Given the description of an element on the screen output the (x, y) to click on. 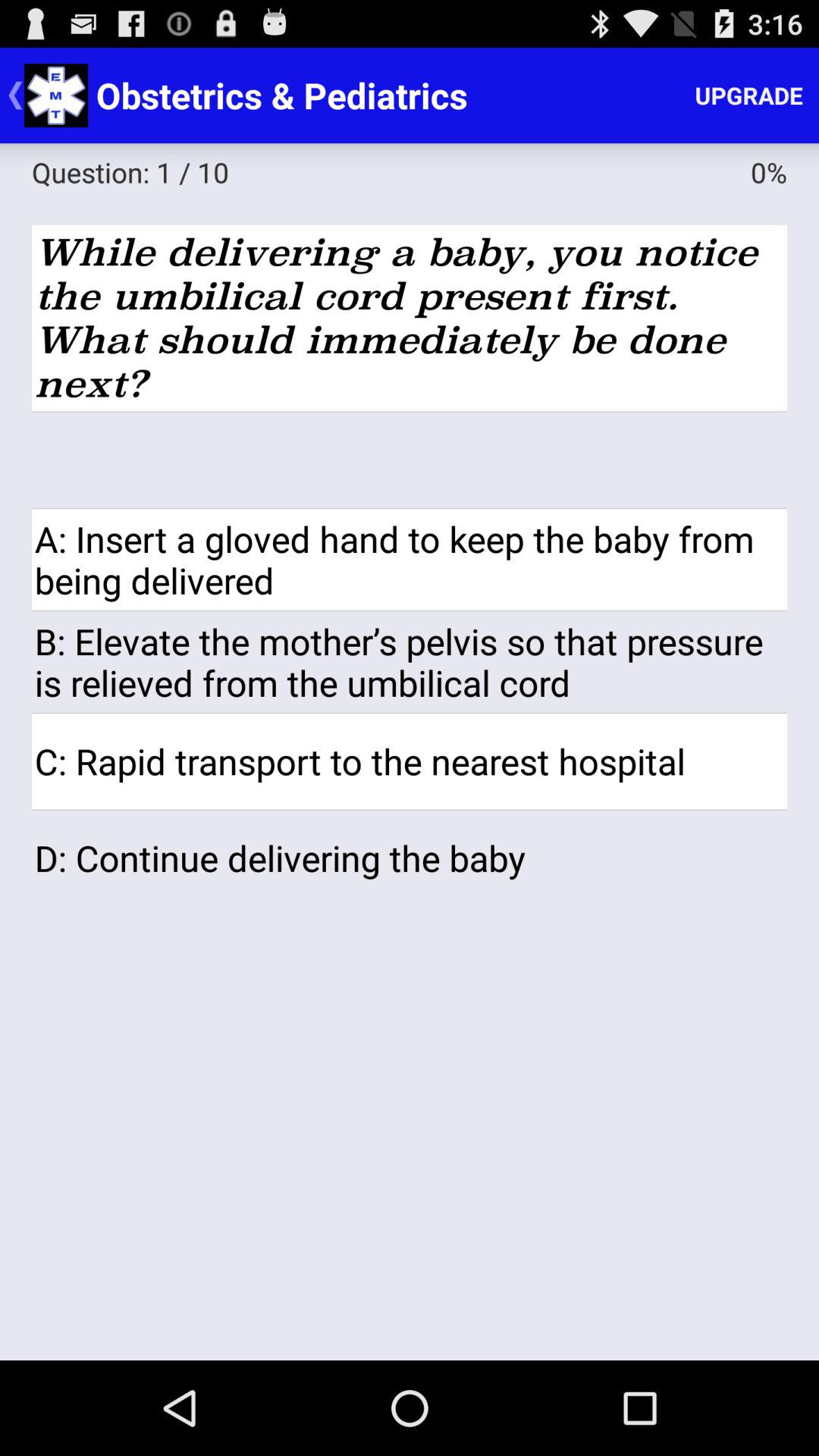
launch the   app (409, 459)
